Given the description of an element on the screen output the (x, y) to click on. 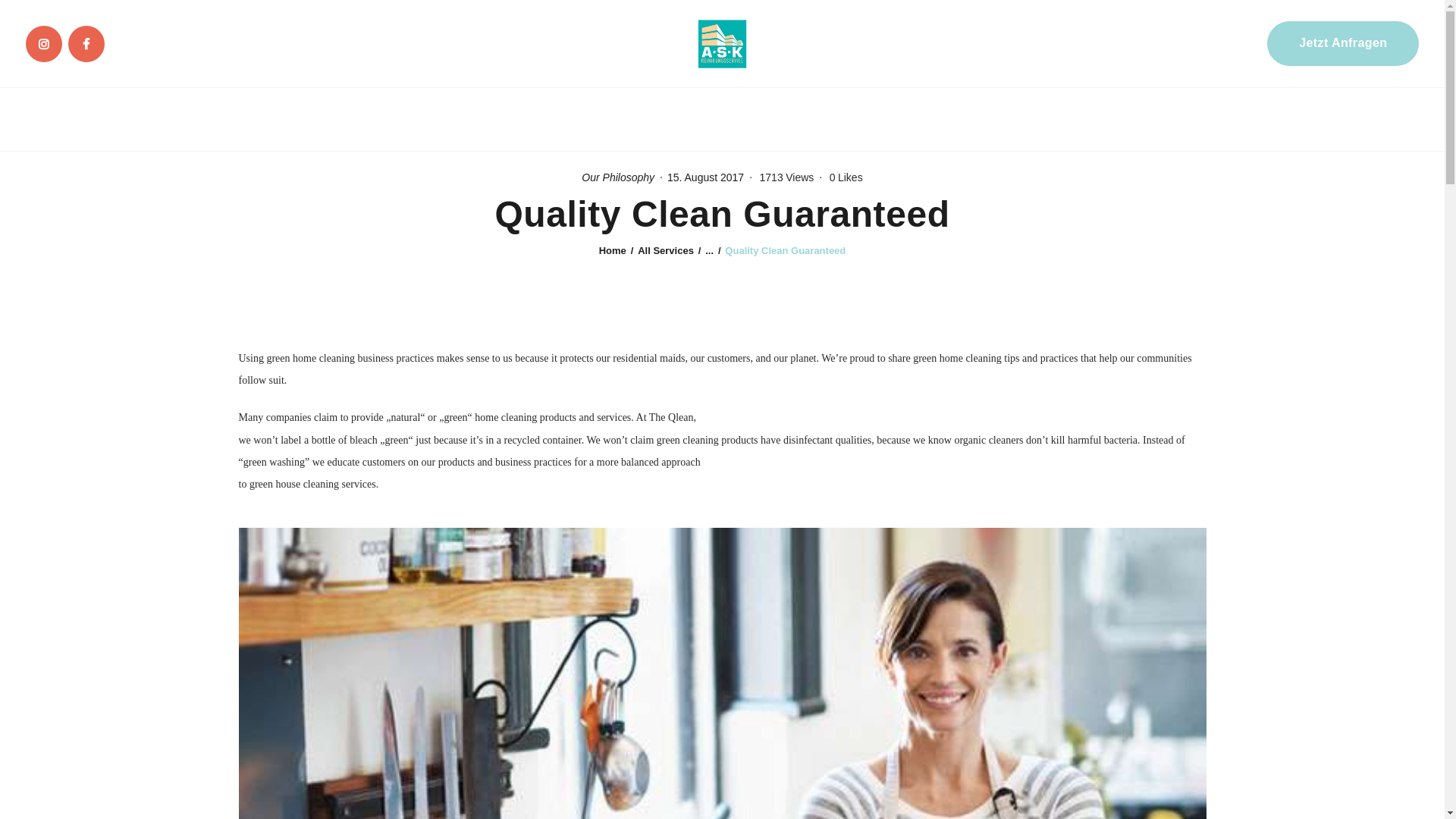
1713Views (790, 177)
Our Philosophy (616, 177)
All Services (665, 250)
Like (844, 177)
Home (612, 250)
0Likes (844, 177)
Jetzt Anfragen (1342, 43)
15. August 2017 (705, 177)
View all posts in Our Philosophy (616, 177)
